Given the description of an element on the screen output the (x, y) to click on. 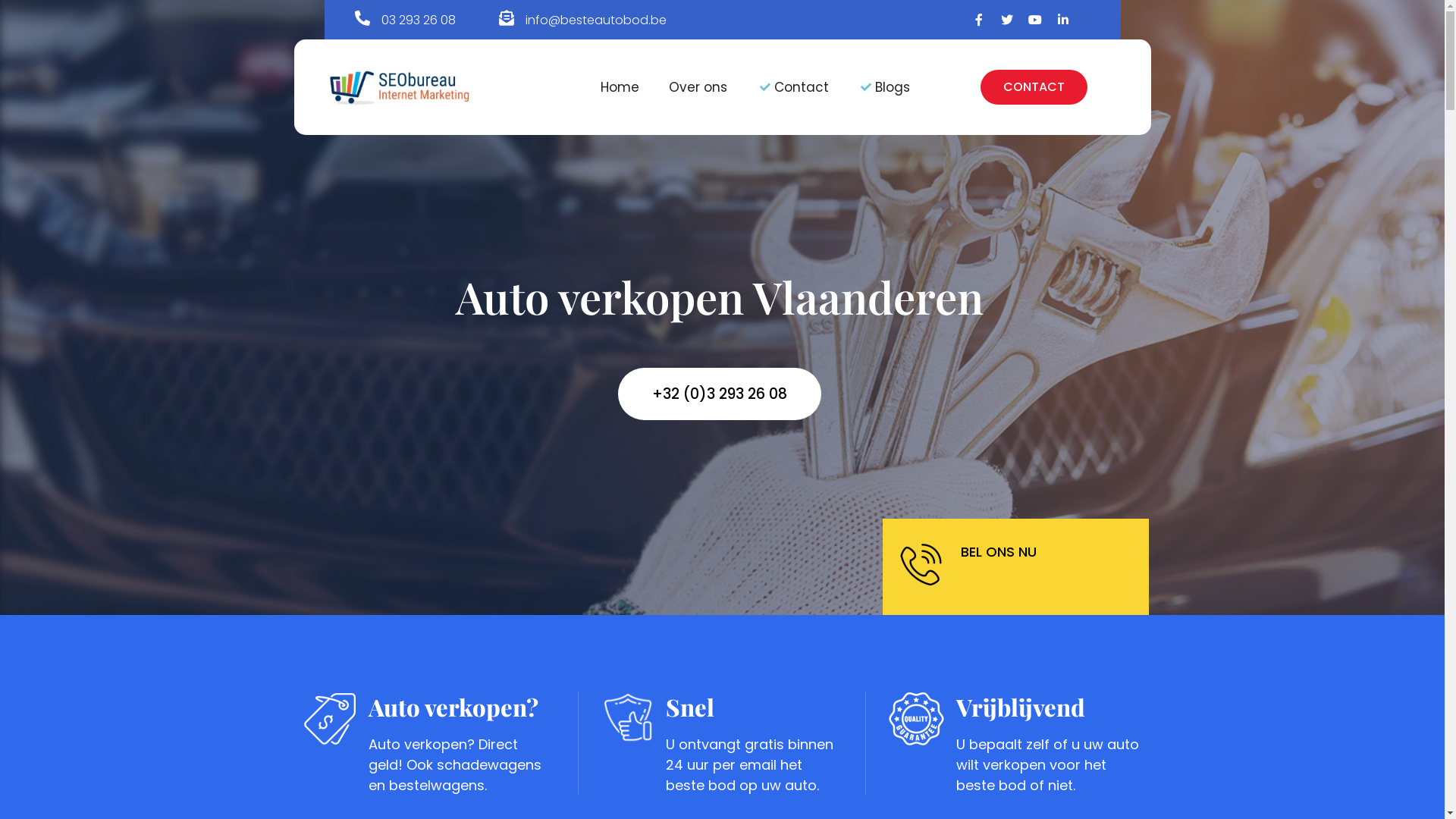
Over ons Element type: text (697, 87)
Home Element type: text (619, 87)
CONTACT Element type: text (1033, 86)
info@besteautobod.be Element type: text (595, 19)
Blogs Element type: text (884, 87)
+32 (0)3 293 26 08 Element type: text (719, 393)
Contact Element type: text (792, 87)
